Given the description of an element on the screen output the (x, y) to click on. 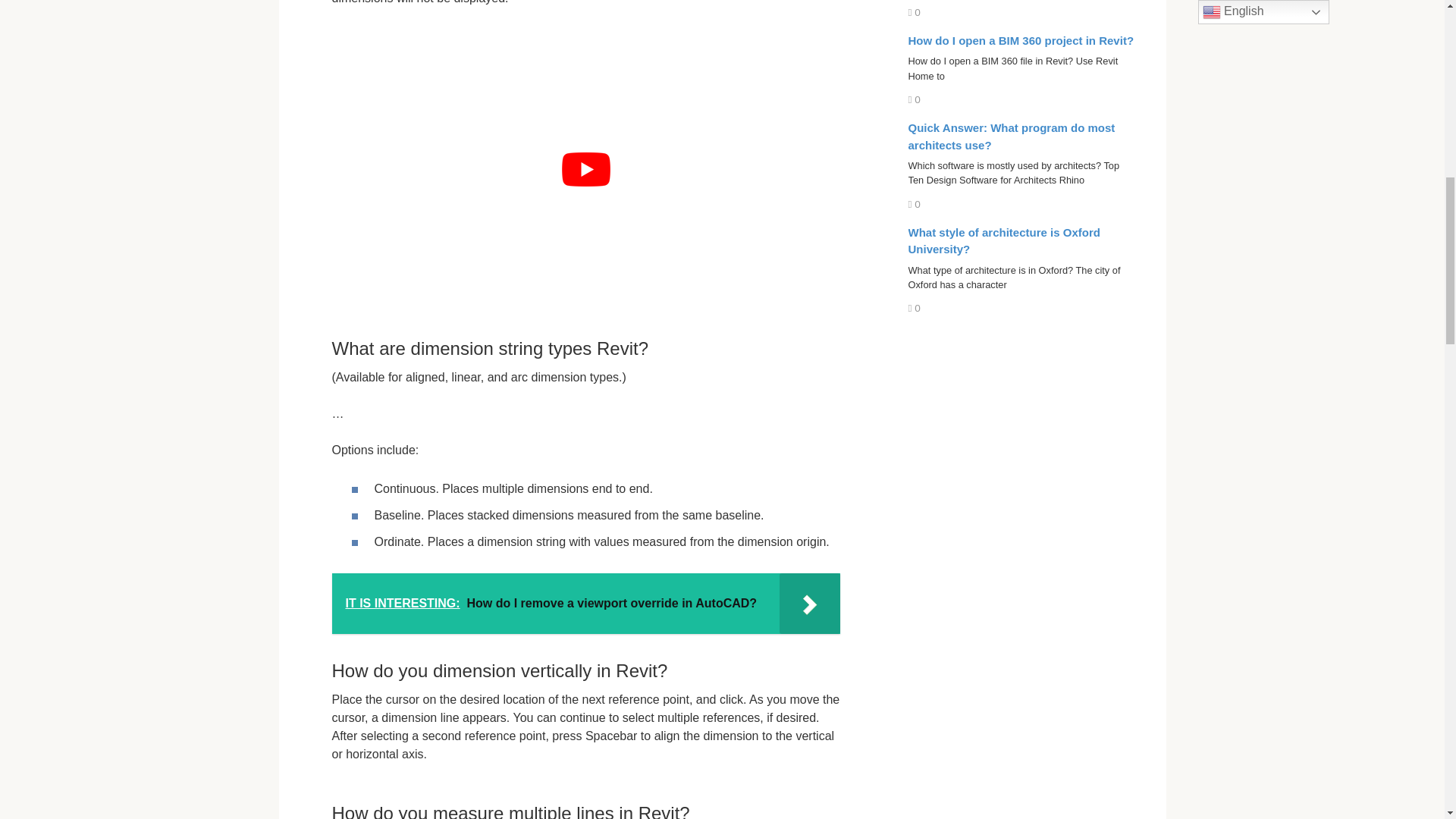
Comments (914, 12)
Comments (914, 204)
Comments (914, 99)
Comments (914, 307)
